Given the description of an element on the screen output the (x, y) to click on. 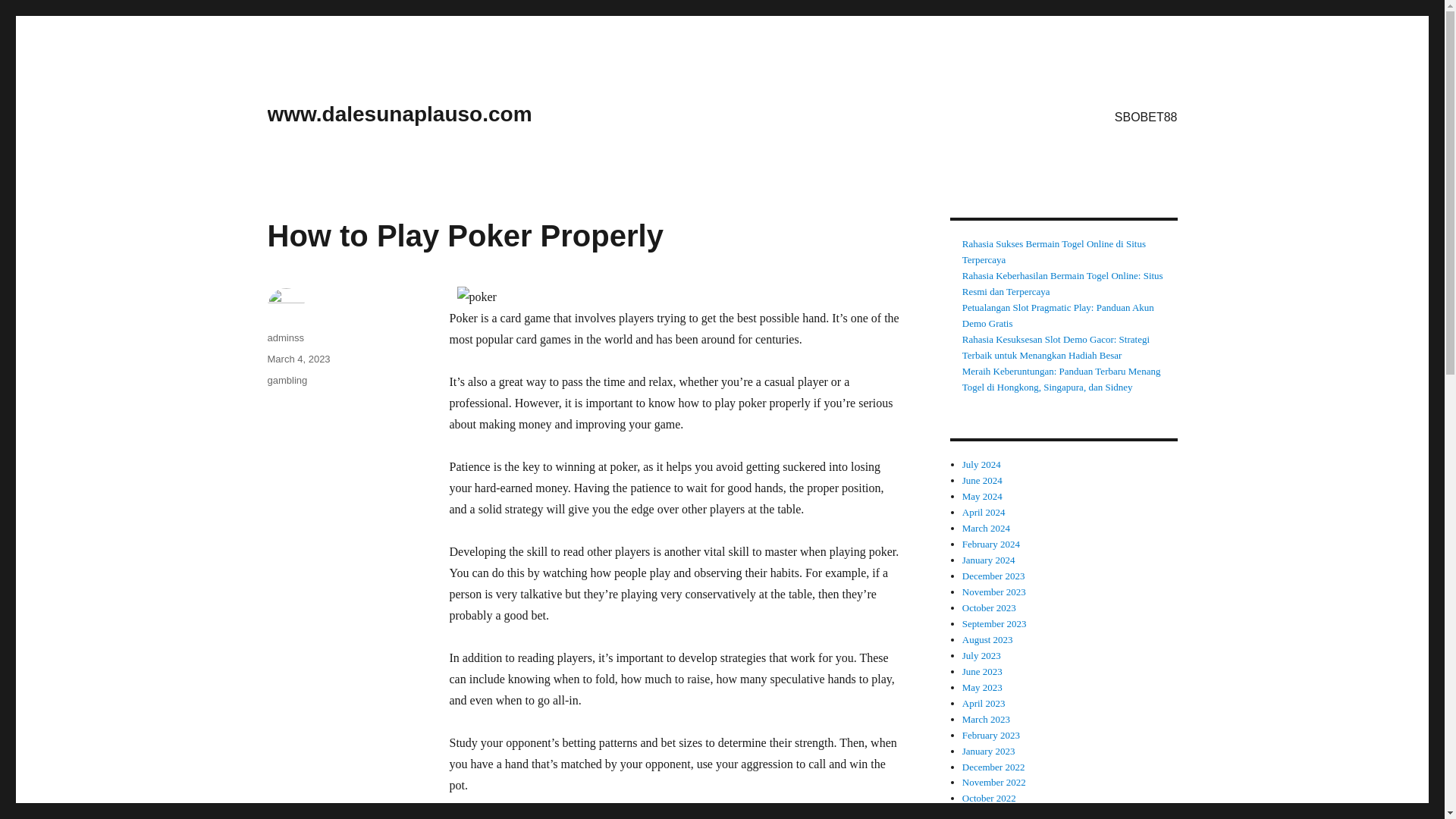
September 2023 (994, 623)
Petualangan Slot Pragmatic Play: Panduan Akun Demo Gratis (1058, 315)
June 2024 (982, 480)
April 2024 (984, 511)
May 2024 (982, 496)
November 2022 (994, 781)
SBOBET88 (1145, 116)
May 2023 (982, 686)
December 2023 (993, 575)
Rahasia Sukses Bermain Togel Online di Situs Terpercaya (1053, 251)
adminss (284, 337)
August 2023 (987, 639)
October 2022 (989, 797)
March 2023 (986, 718)
March 4, 2023 (298, 358)
